Given the description of an element on the screen output the (x, y) to click on. 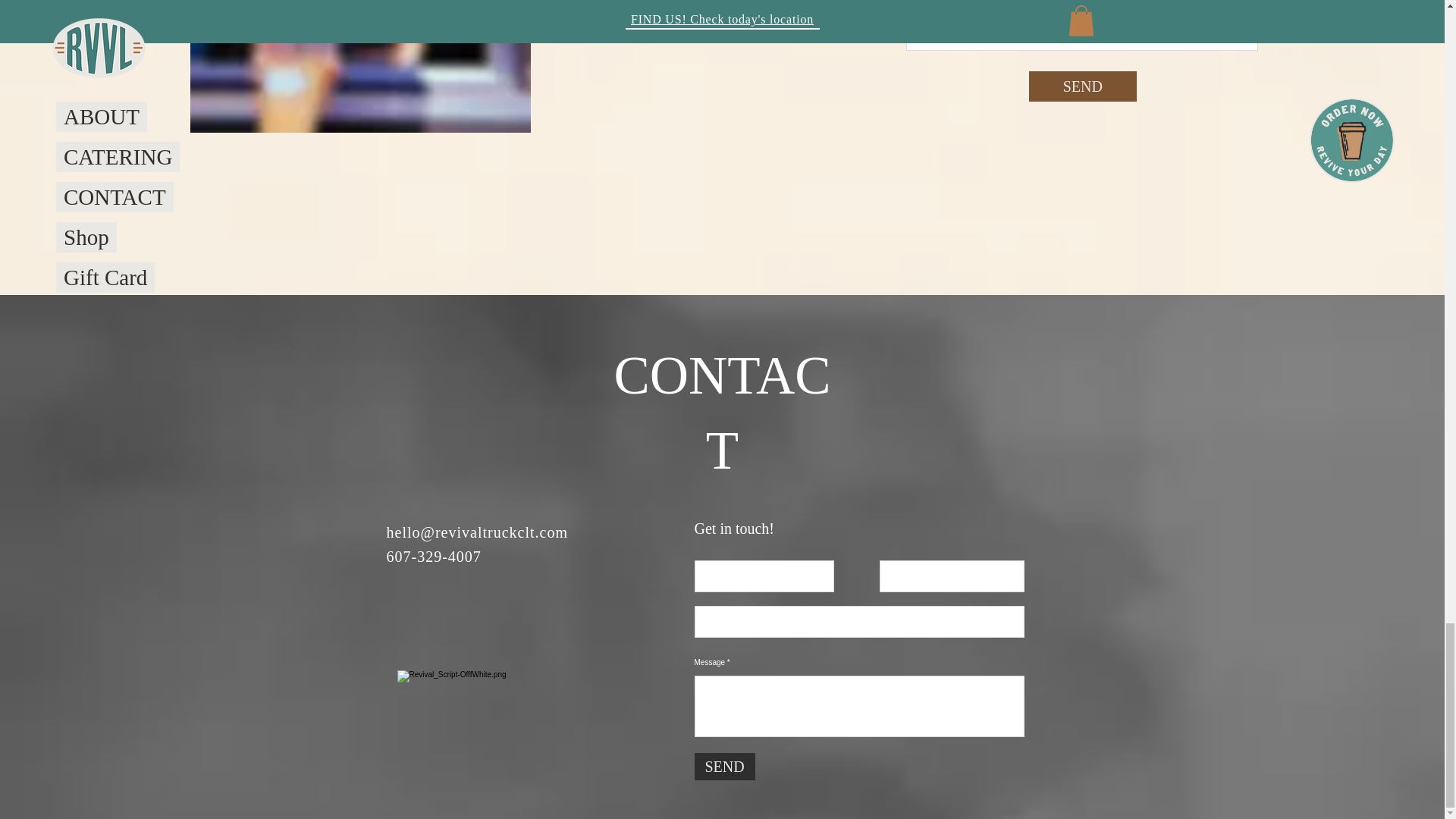
SEND (724, 766)
SEND (1083, 86)
